Given the description of an element on the screen output the (x, y) to click on. 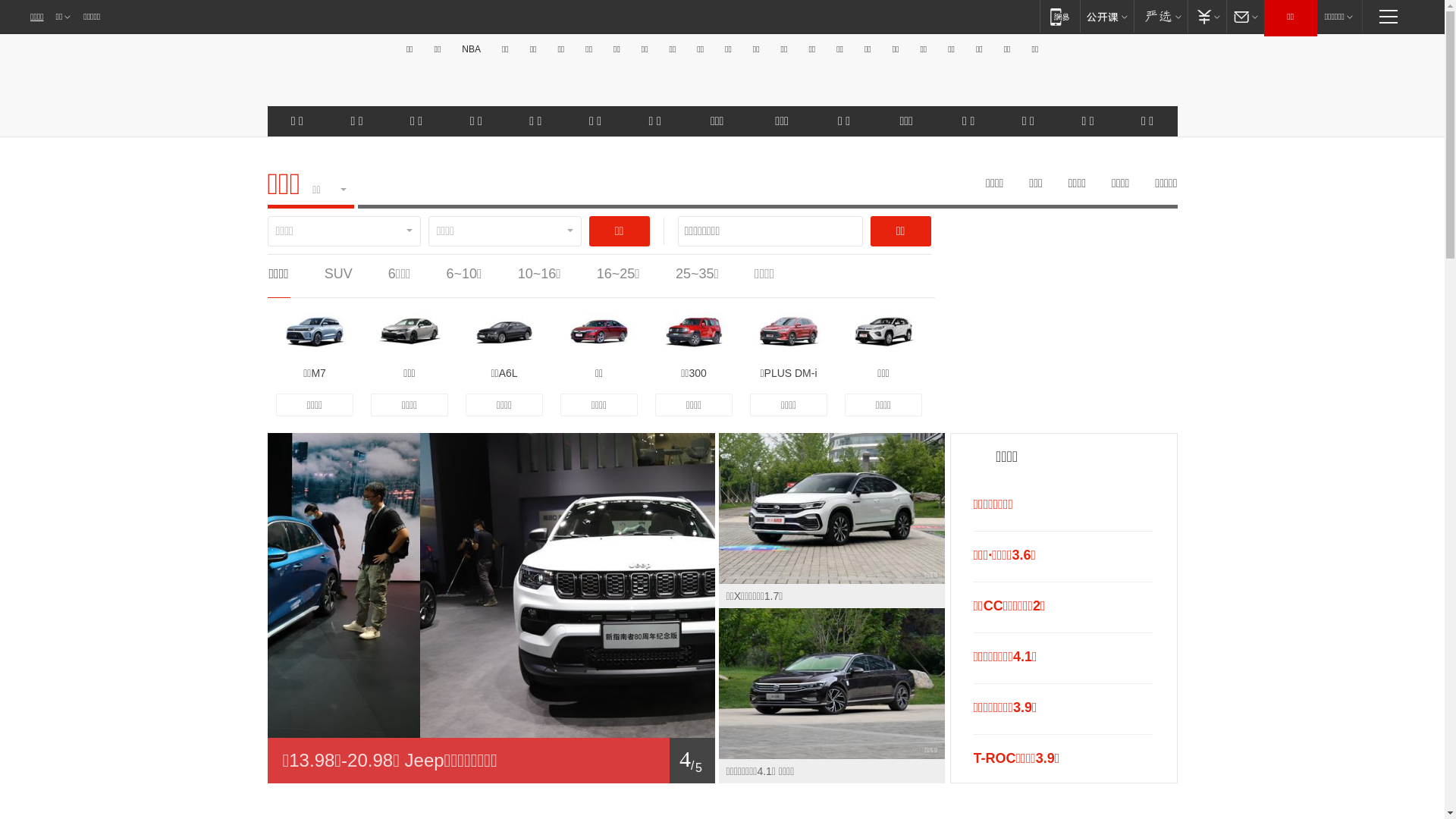
SUV Element type: text (338, 273)
NBA Element type: text (471, 48)
1/ 5 Element type: text (490, 760)
